Given the description of an element on the screen output the (x, y) to click on. 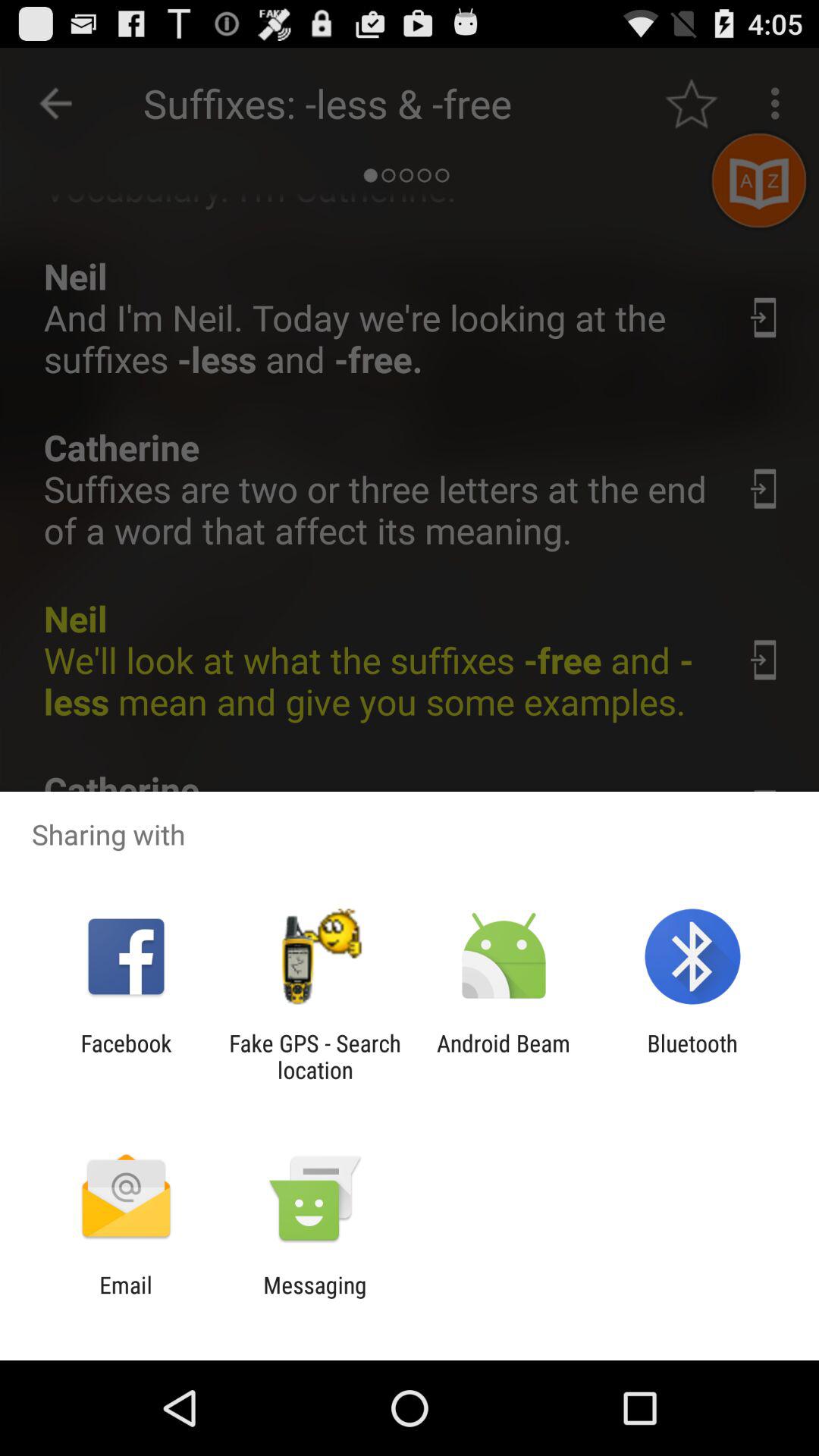
press messaging app (314, 1298)
